Given the description of an element on the screen output the (x, y) to click on. 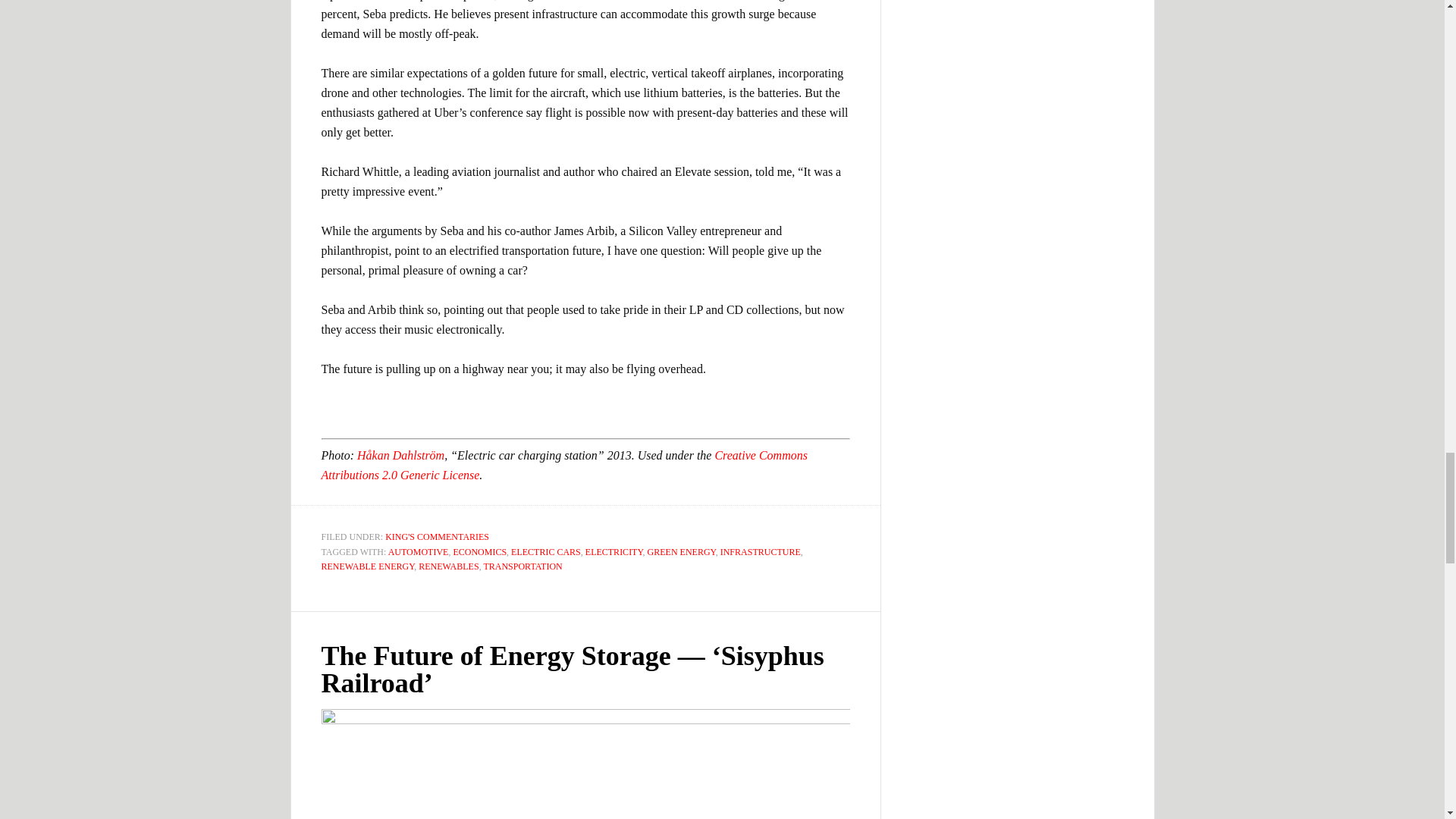
ELECTRIC CARS (545, 551)
Creative Commons Attributions 2.0 Generic License (564, 464)
KING'S COMMENTARIES (437, 536)
ECONOMICS (479, 551)
ELECTRICITY (614, 551)
GREEN ENERGY (681, 551)
INFRASTRUCTURE (760, 551)
RENEWABLE ENERGY (367, 566)
AUTOMOTIVE (418, 551)
